Given the description of an element on the screen output the (x, y) to click on. 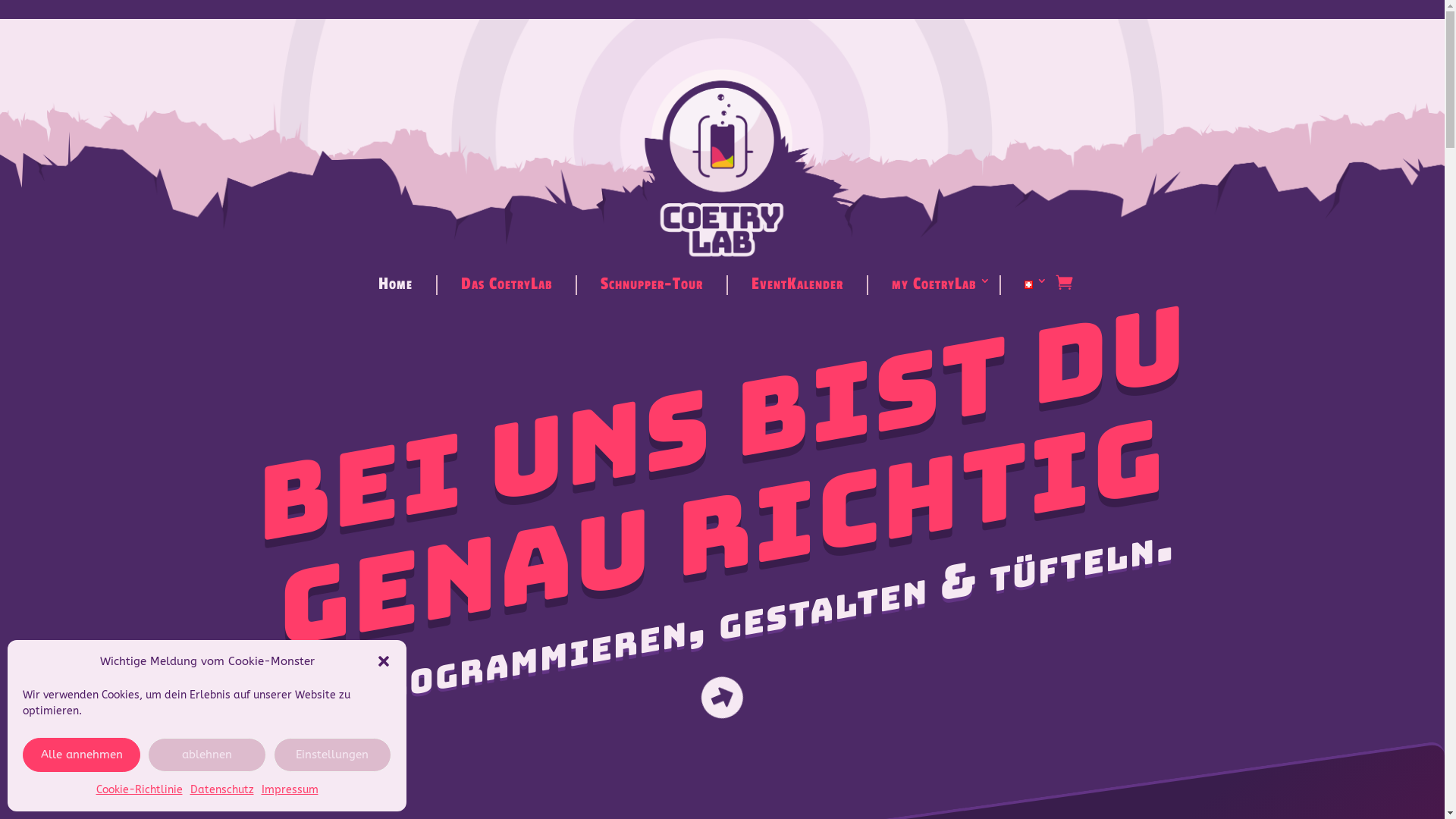
my CoetryLab Element type: text (933, 284)
EventKalender Element type: text (797, 284)
Home Element type: text (395, 284)
Impressum Element type: text (288, 789)
ablehnen Element type: text (206, 754)
CoetryLab Navi Phone Element type: hover (722, 135)
Schnupper-Tour Element type: text (651, 284)
Datenschutz Element type: text (221, 789)
Einstellungen Element type: text (332, 754)
Alle annehmen Element type: text (81, 754)
Cookie-Richtlinie Element type: text (138, 789)
Das CoetryLab Element type: text (506, 284)
